Given the description of an element on the screen output the (x, y) to click on. 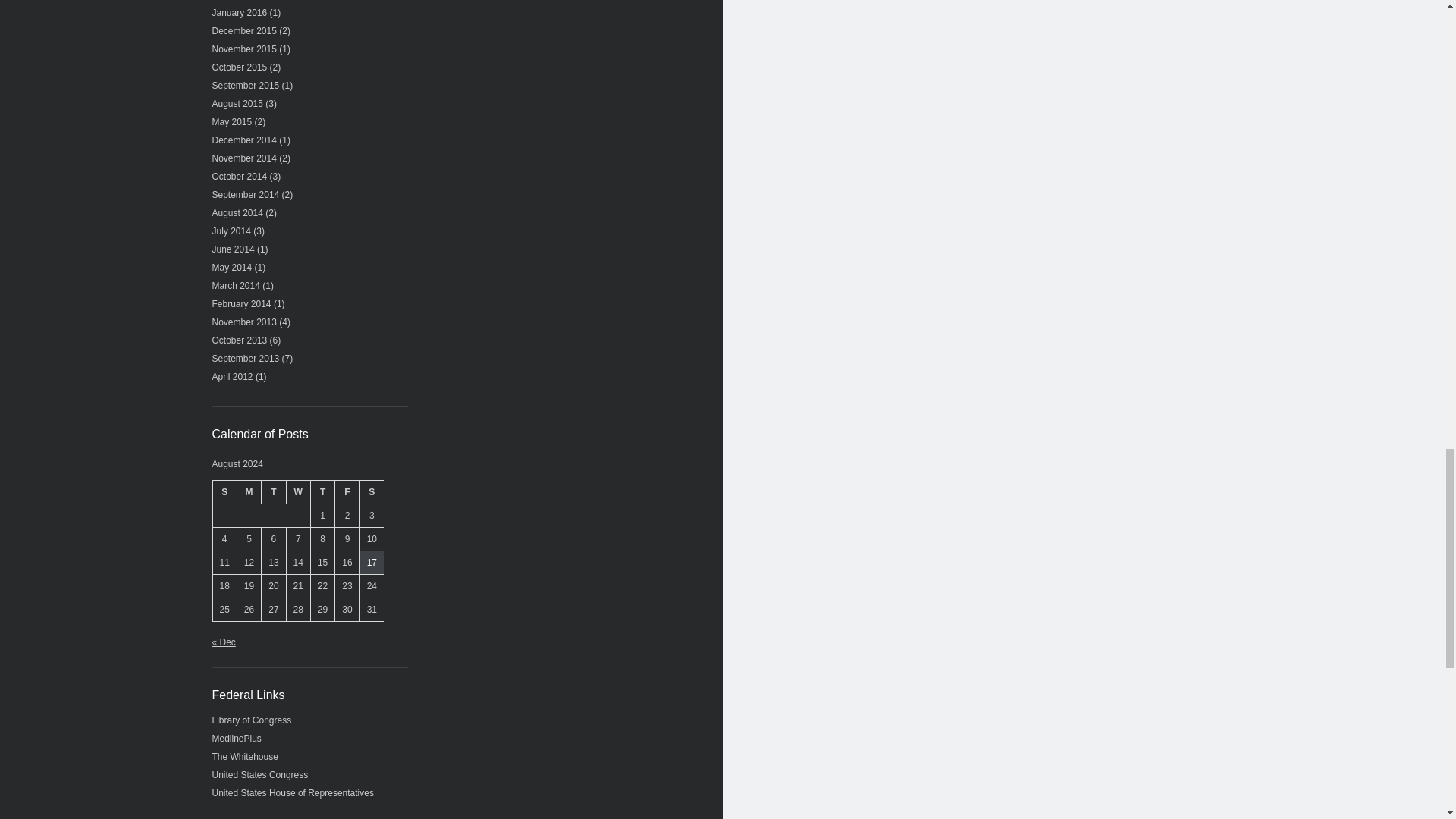
Thursday (322, 491)
Friday (346, 491)
Sunday (223, 491)
Saturday (371, 491)
Monday (247, 491)
Tuesday (273, 491)
Wednesday (297, 491)
